Given the description of an element on the screen output the (x, y) to click on. 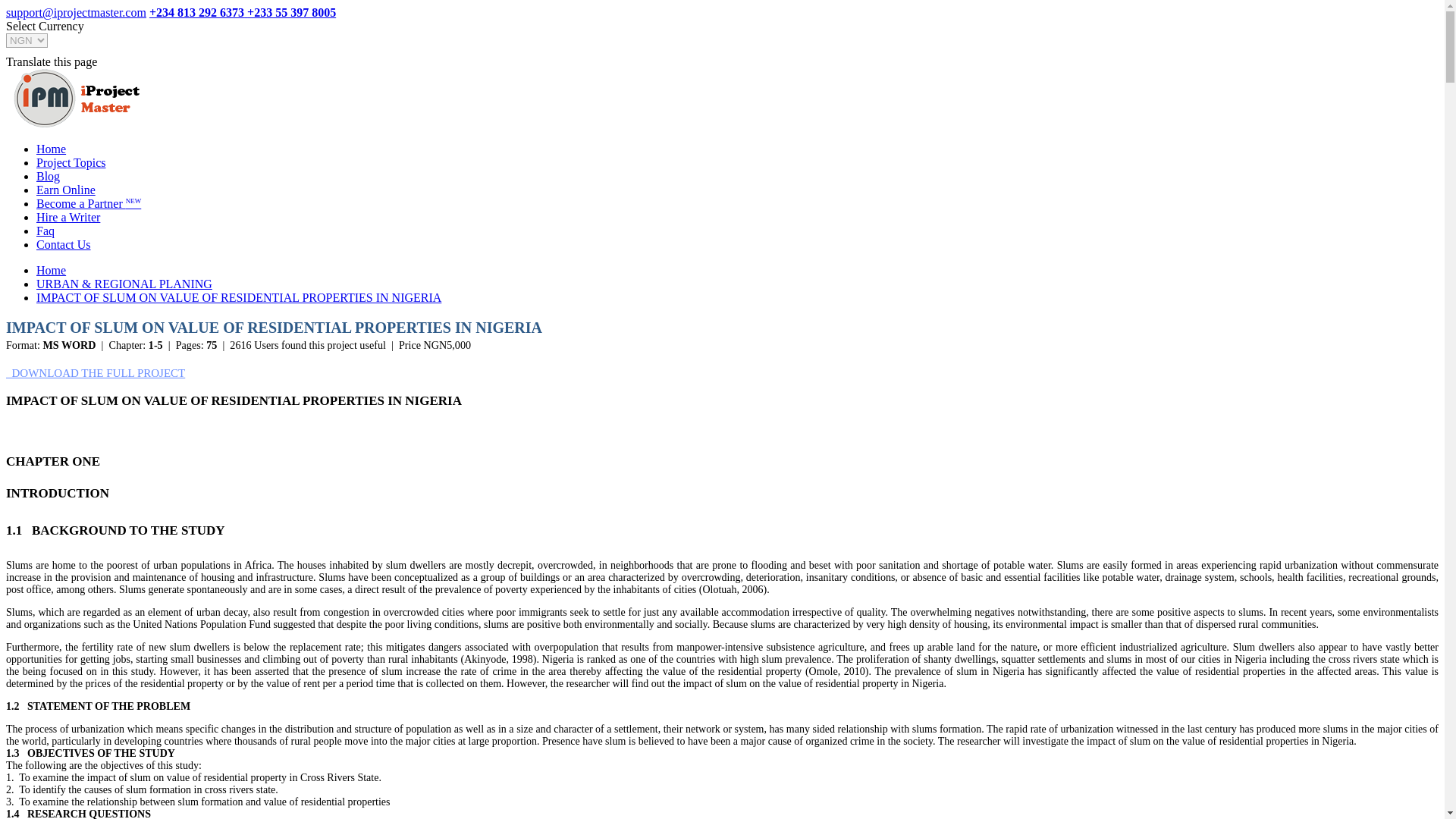
Faq (45, 230)
Become a Partner NEW (88, 203)
Project Topics (70, 162)
Hire a Writer (68, 216)
  DOWNLOAD THE FULL PROJECT (94, 372)
Home (50, 269)
Earn Online (66, 189)
Home (50, 148)
Project Topics (77, 97)
Blog (47, 175)
